Given the description of an element on the screen output the (x, y) to click on. 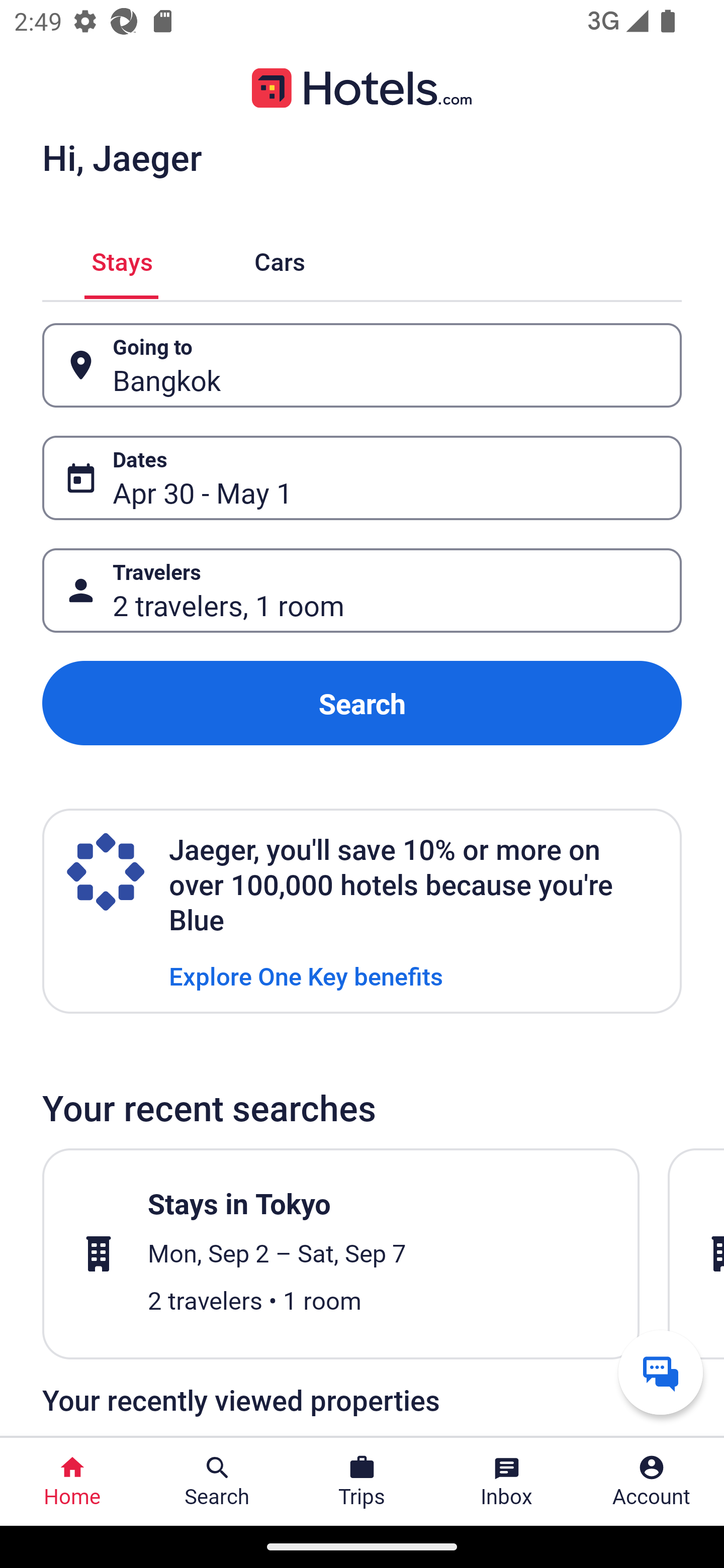
Hi, Jaeger (121, 156)
Cars (279, 259)
Going to Button Bangkok (361, 365)
Dates Button Apr 30 - May 1 (361, 477)
Travelers Button 2 travelers, 1 room (361, 590)
Search (361, 702)
Get help from a virtual agent (660, 1371)
Search Search Button (216, 1481)
Trips Trips Button (361, 1481)
Inbox Inbox Button (506, 1481)
Account Profile. Button (651, 1481)
